Given the description of an element on the screen output the (x, y) to click on. 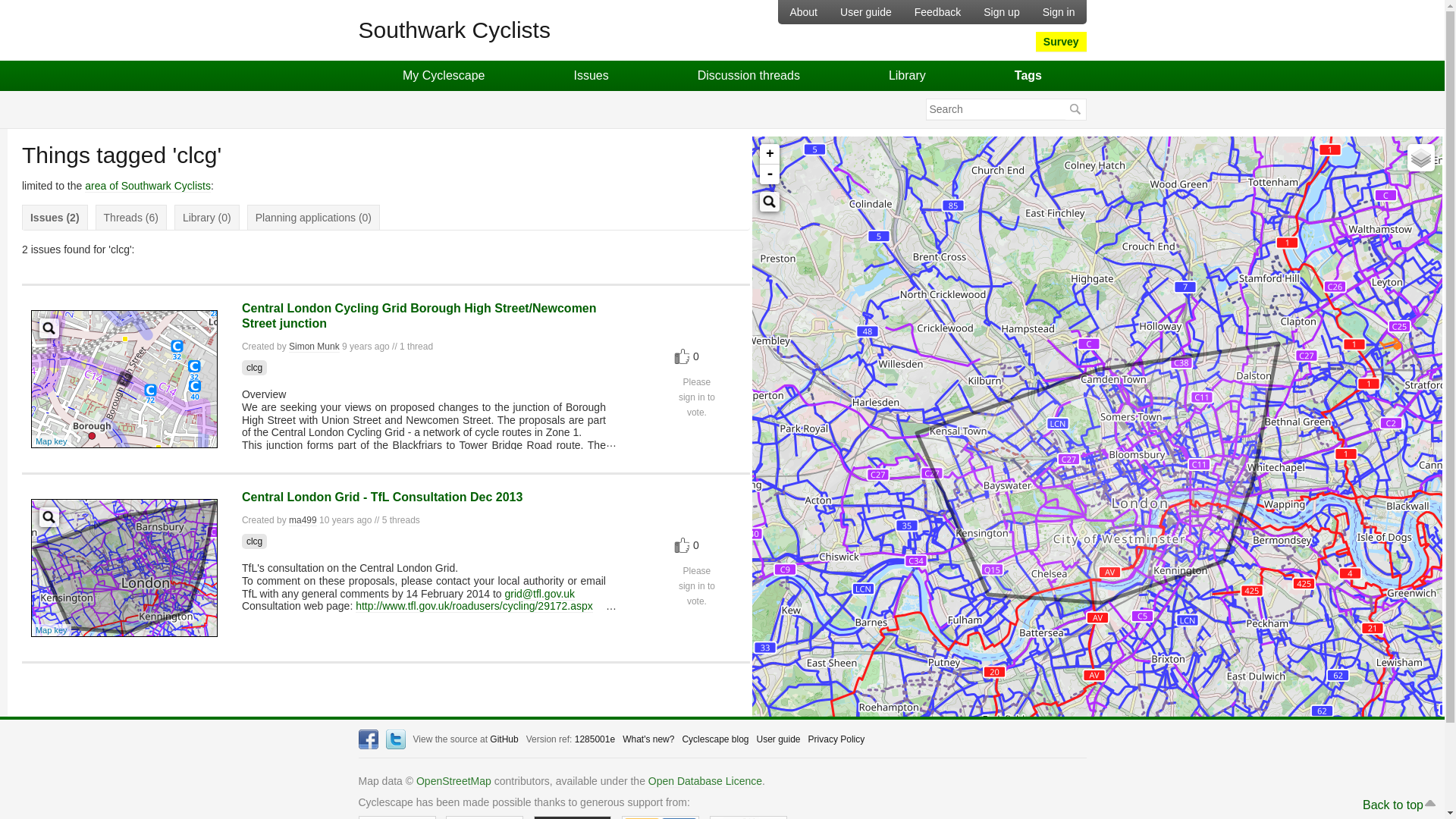
clcg (253, 540)
Discussion threads (748, 75)
Zoom in (769, 154)
Sign up (1001, 11)
Layers (1420, 157)
Feedback (937, 11)
ma499 (302, 520)
- (769, 174)
Map key (50, 628)
Cloud of the top 100 most used tags (1027, 75)
Map key (50, 440)
Survey (1060, 41)
Search... (49, 516)
Search... (769, 201)
GO (1074, 109)
